Given the description of an element on the screen output the (x, y) to click on. 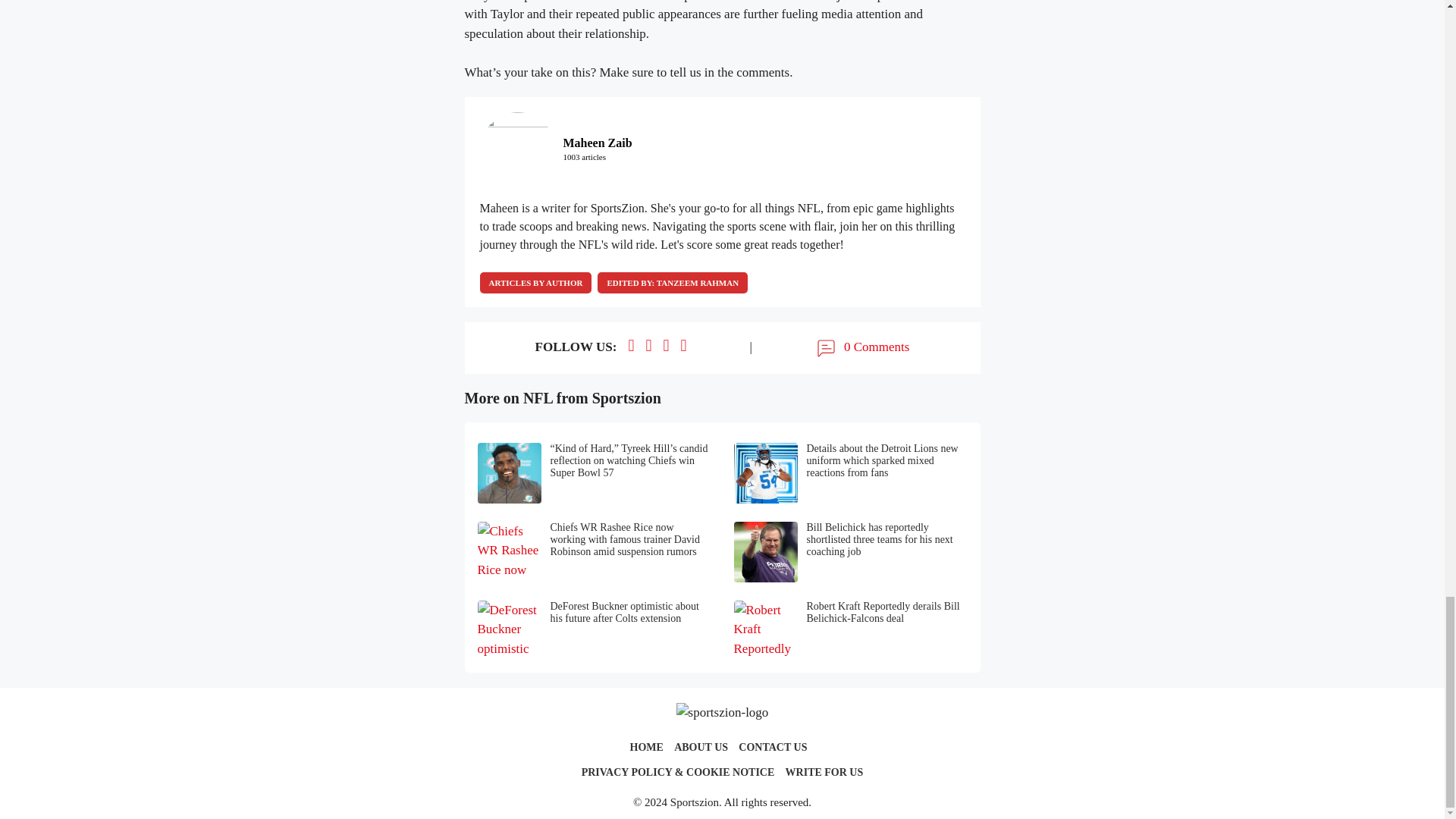
0 Comments (861, 347)
EDITED BY: TANZEEM RAHMAN (672, 282)
Robert Kraft Reportedly derails Bill Belichick-Falcons deal (850, 630)
ARTICLES BY AUTHOR (535, 282)
